Given the description of an element on the screen output the (x, y) to click on. 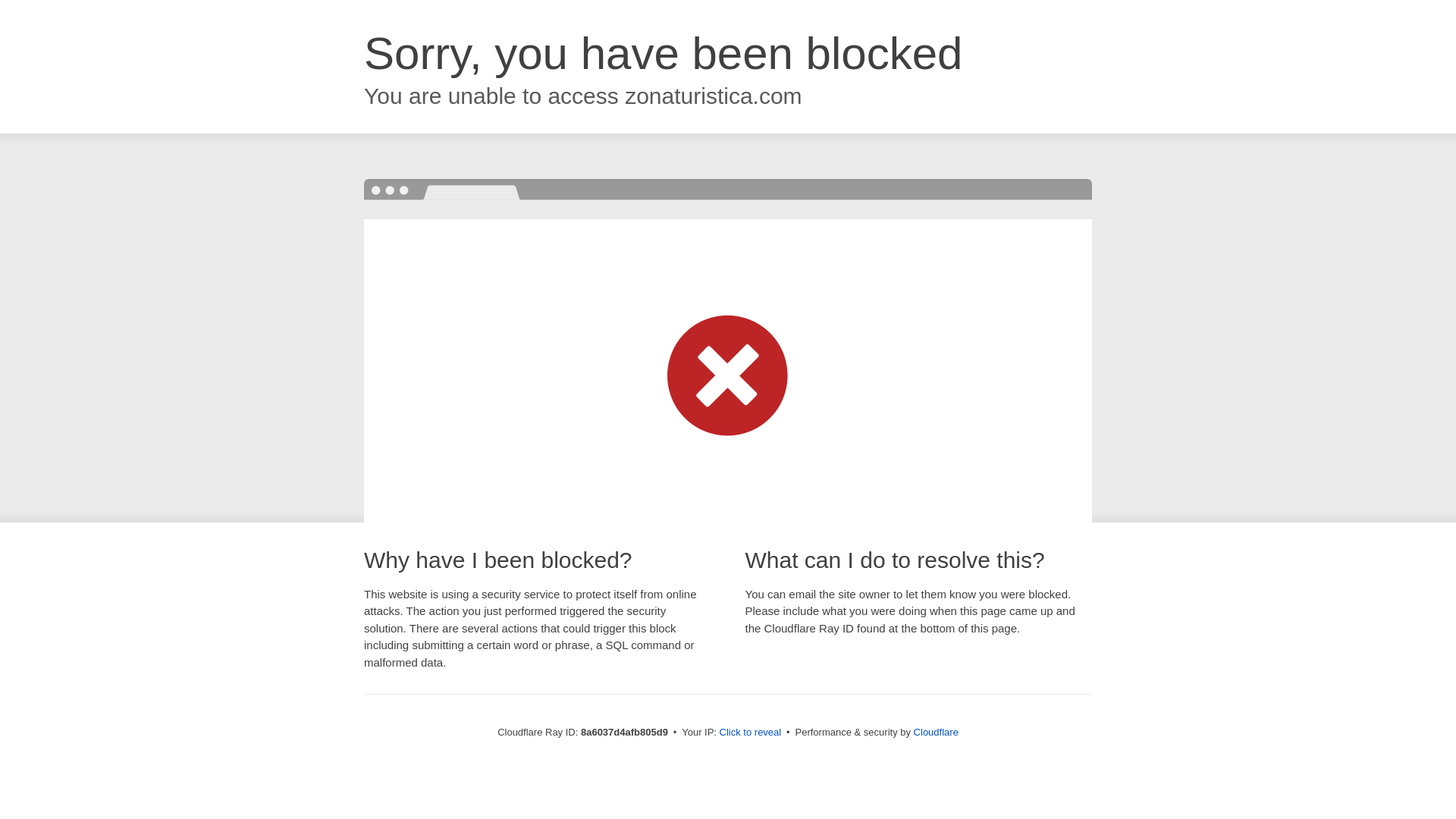
Cloudflare (936, 731)
Click to reveal (750, 732)
